Given the description of an element on the screen output the (x, y) to click on. 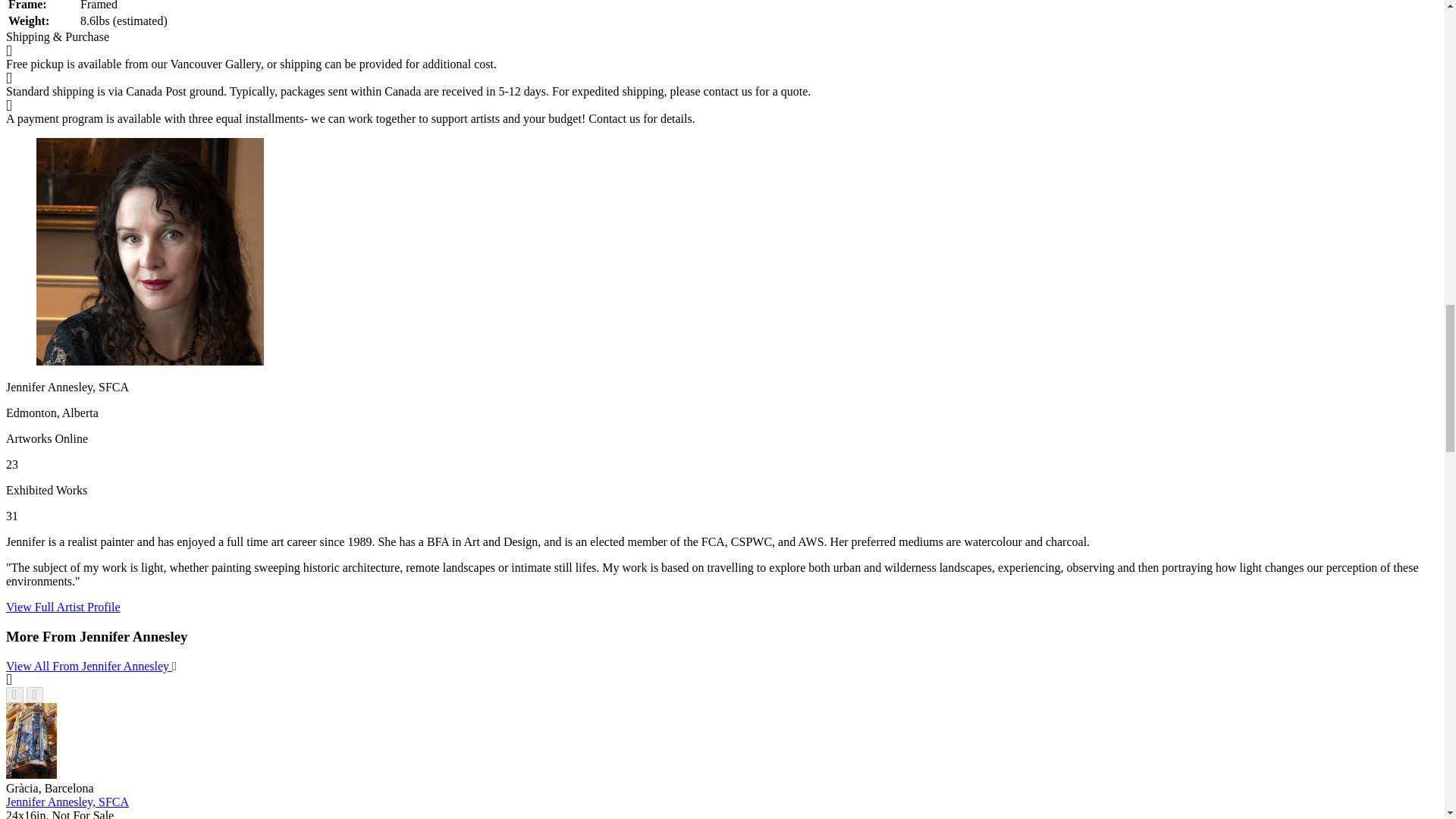
View All From Jennifer Annesley (90, 666)
View Full Artist Profile (62, 606)
Jennifer Annesley, SFCA (67, 801)
